Given the description of an element on the screen output the (x, y) to click on. 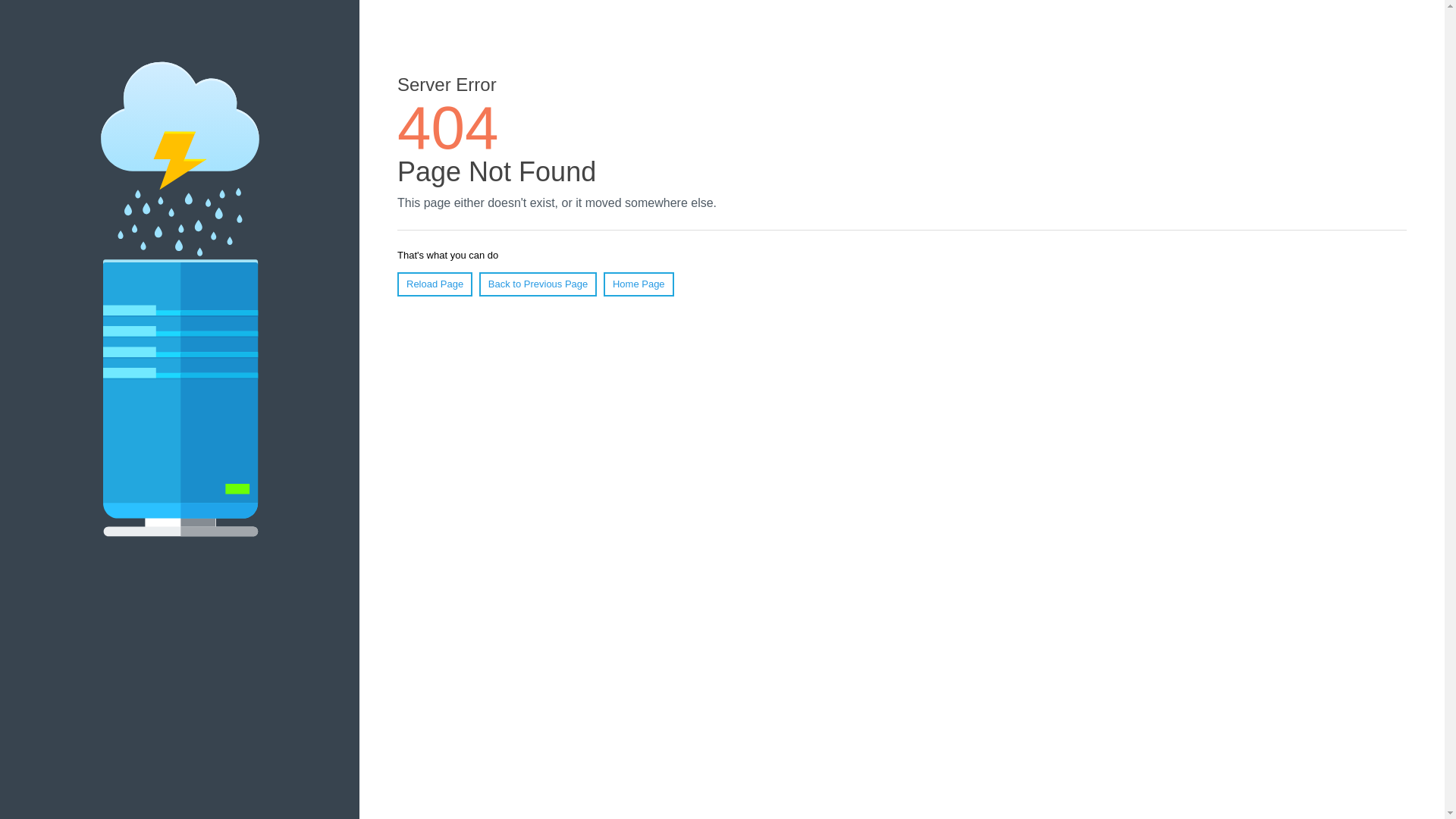
Back to Previous Page Element type: text (538, 284)
Home Page Element type: text (638, 284)
Reload Page Element type: text (434, 284)
